Given the description of an element on the screen output the (x, y) to click on. 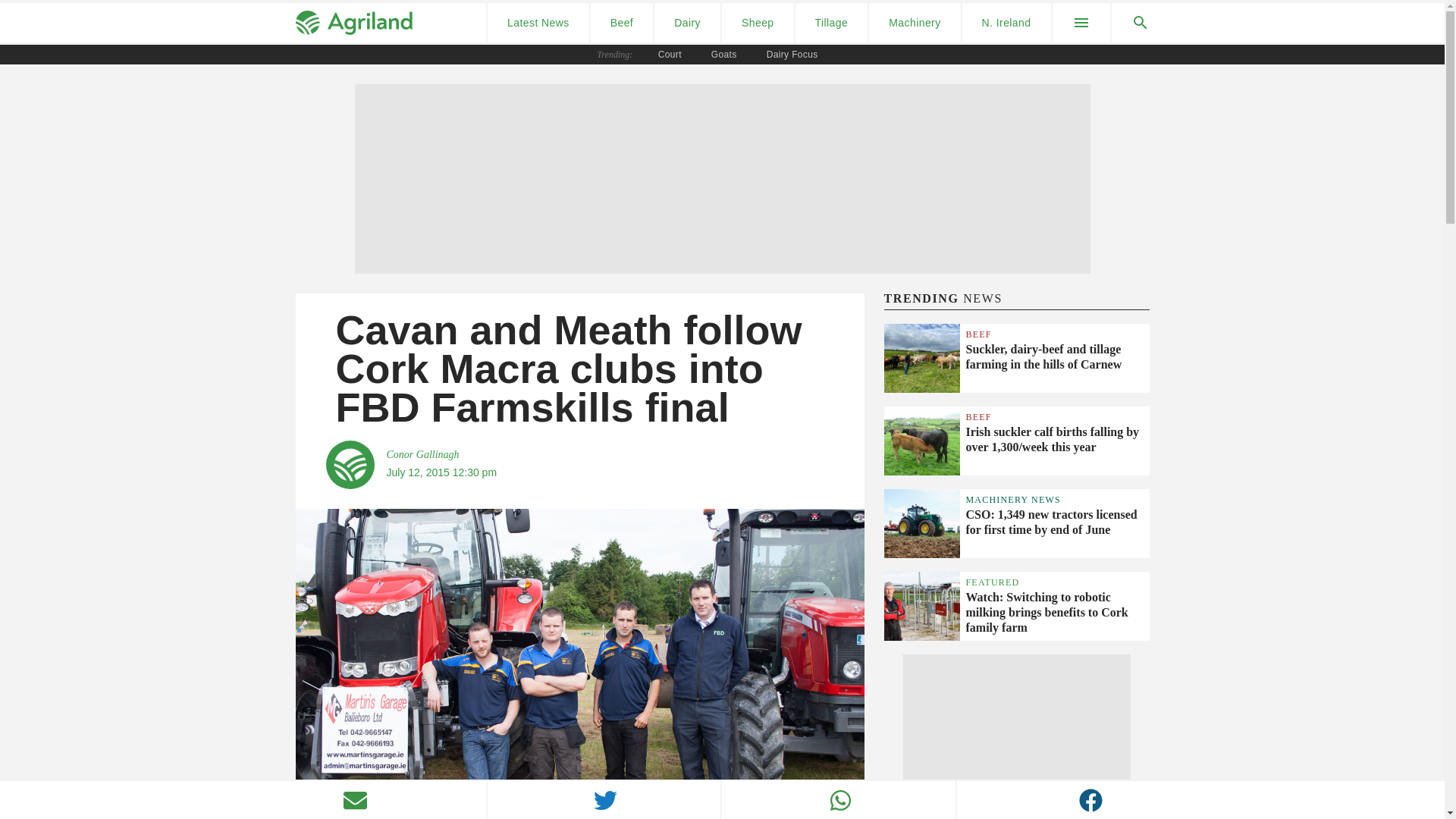
Beef (621, 22)
Tillage (830, 22)
N. Ireland (1006, 22)
Sheep (757, 22)
search agriland (1131, 22)
Latest News (538, 22)
Machinery (914, 22)
Dairy (686, 22)
Agriland Logo (353, 22)
